Given the description of an element on the screen output the (x, y) to click on. 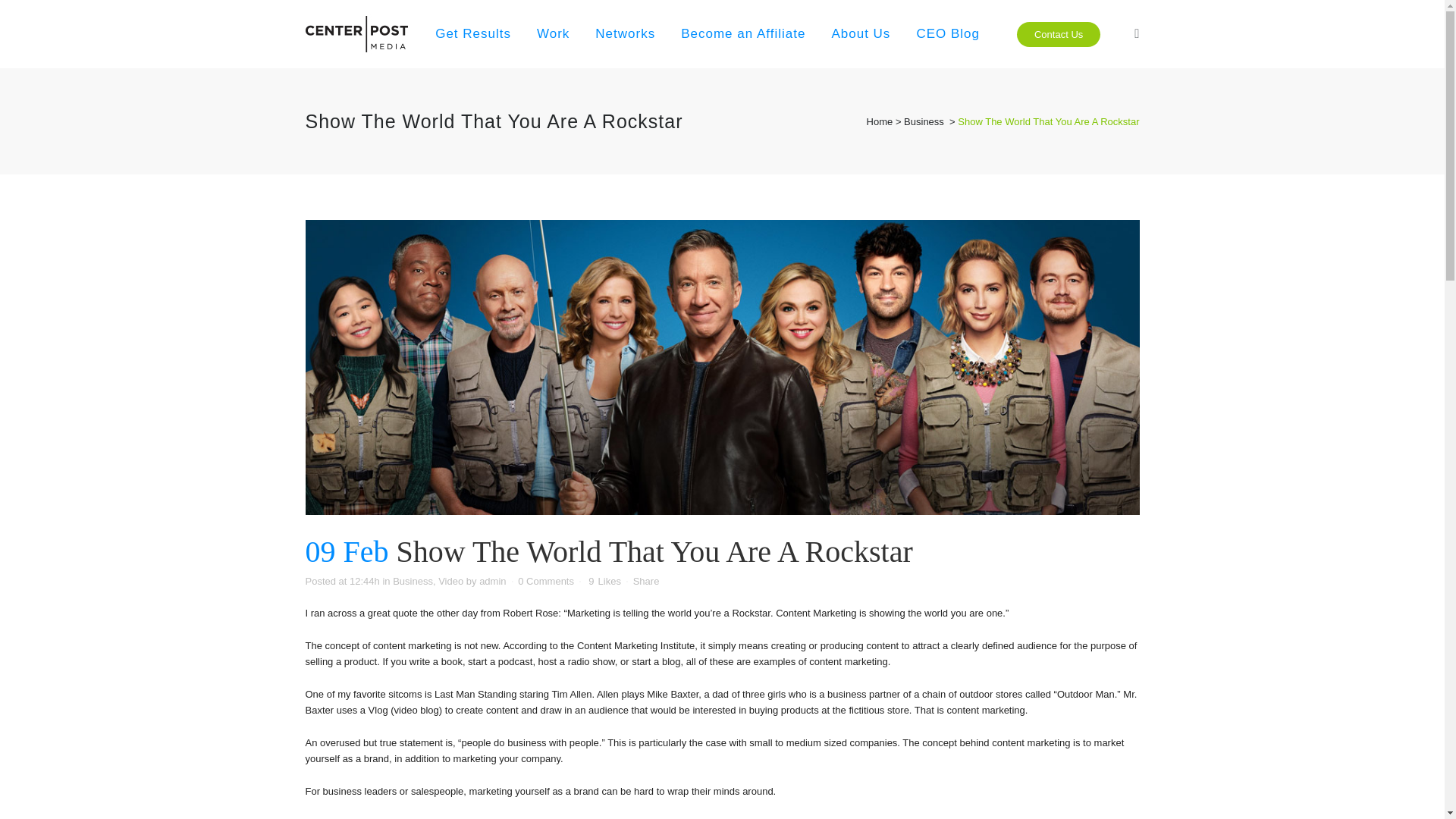
About Us (860, 33)
Like this (604, 581)
Work (553, 33)
Contact Us (1058, 33)
CEO Blog (947, 33)
Get Results (473, 33)
Networks (625, 33)
Become an Affiliate (743, 33)
